Given the description of an element on the screen output the (x, y) to click on. 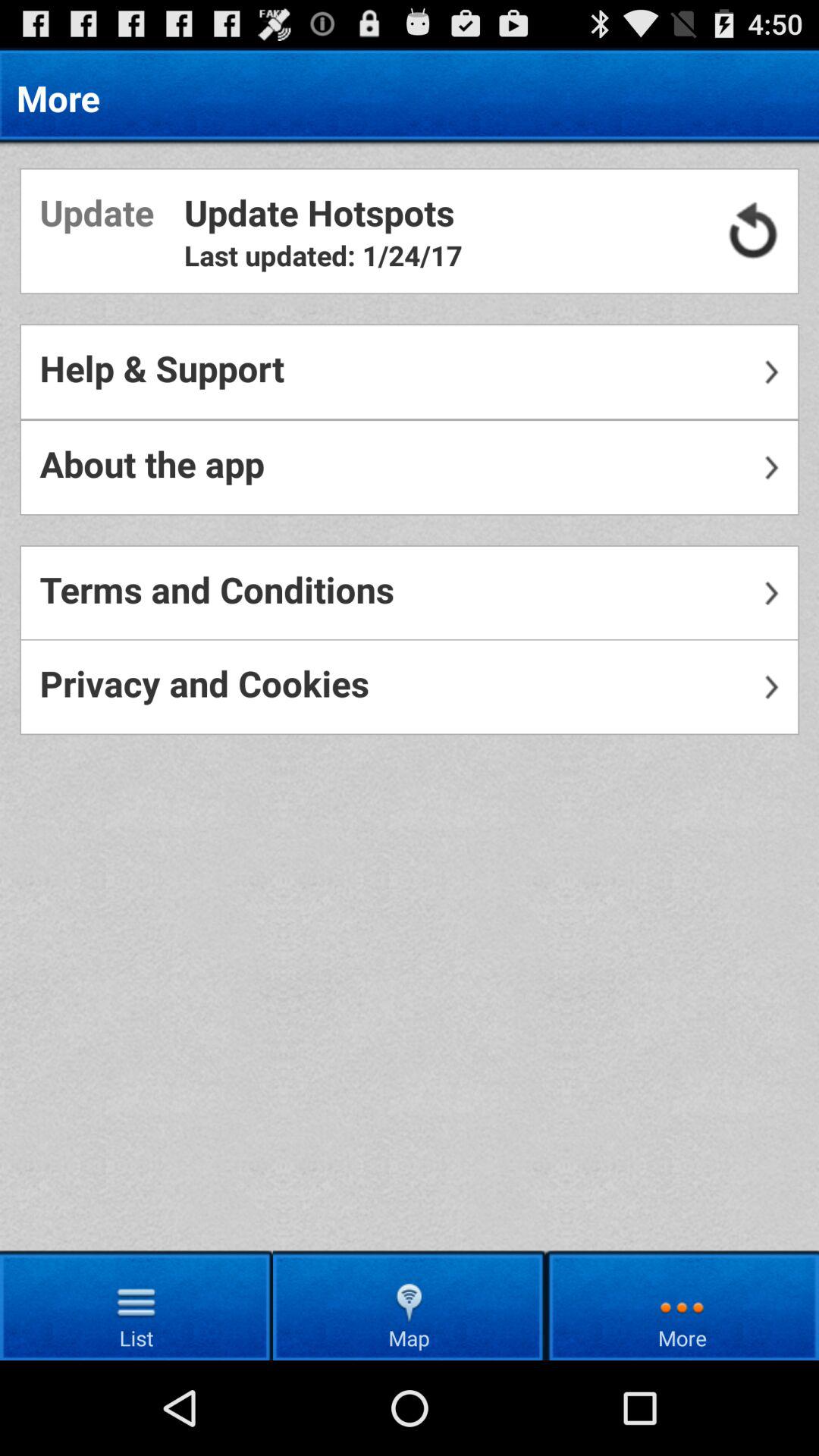
launch terms and conditions item (409, 592)
